Given the description of an element on the screen output the (x, y) to click on. 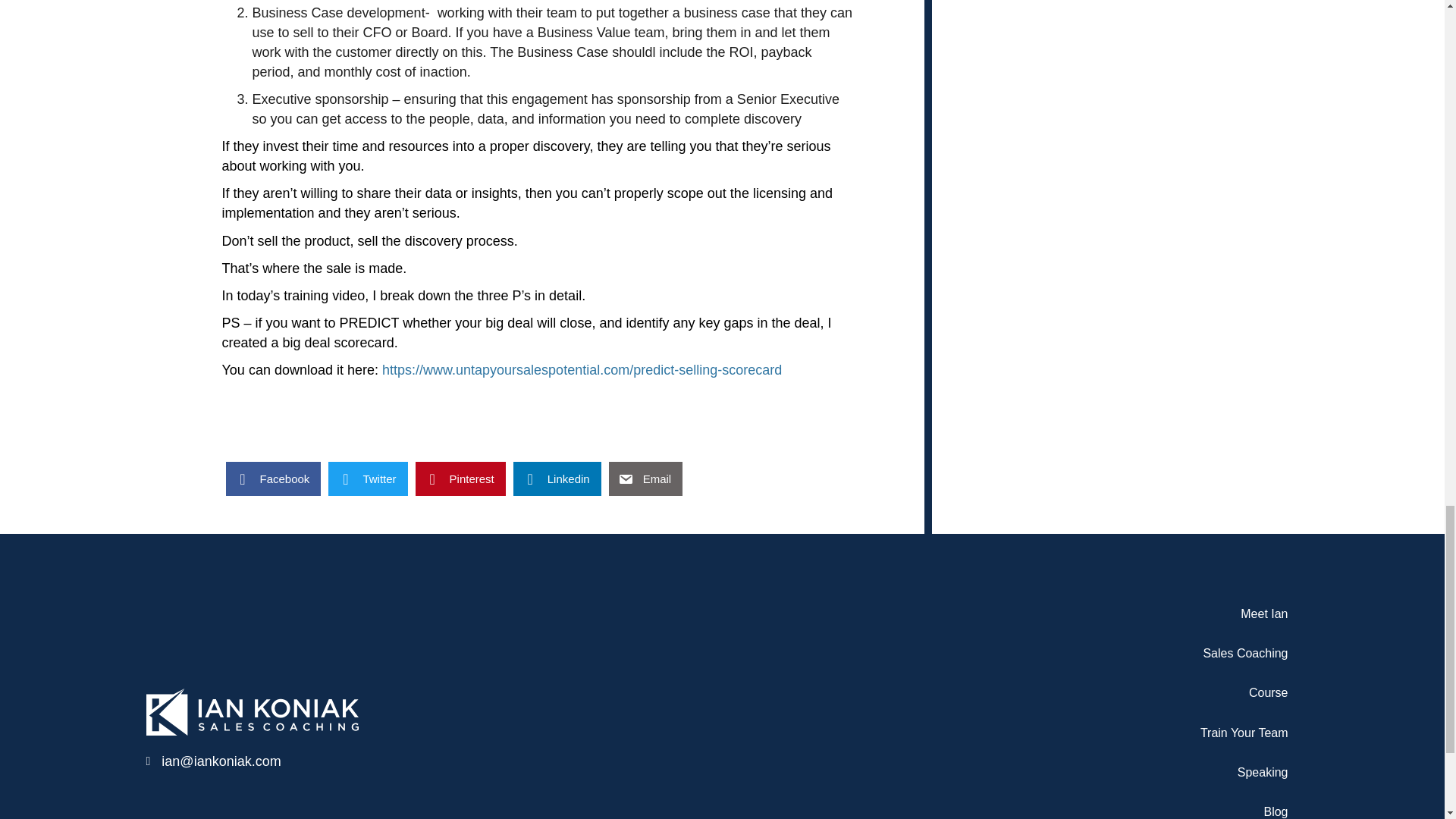
Pinterest (459, 478)
Meet Ian (1055, 613)
Facebook (273, 478)
Linkedin (557, 478)
Email (645, 478)
Twitter (368, 478)
IK Logo white (251, 711)
